Given the description of an element on the screen output the (x, y) to click on. 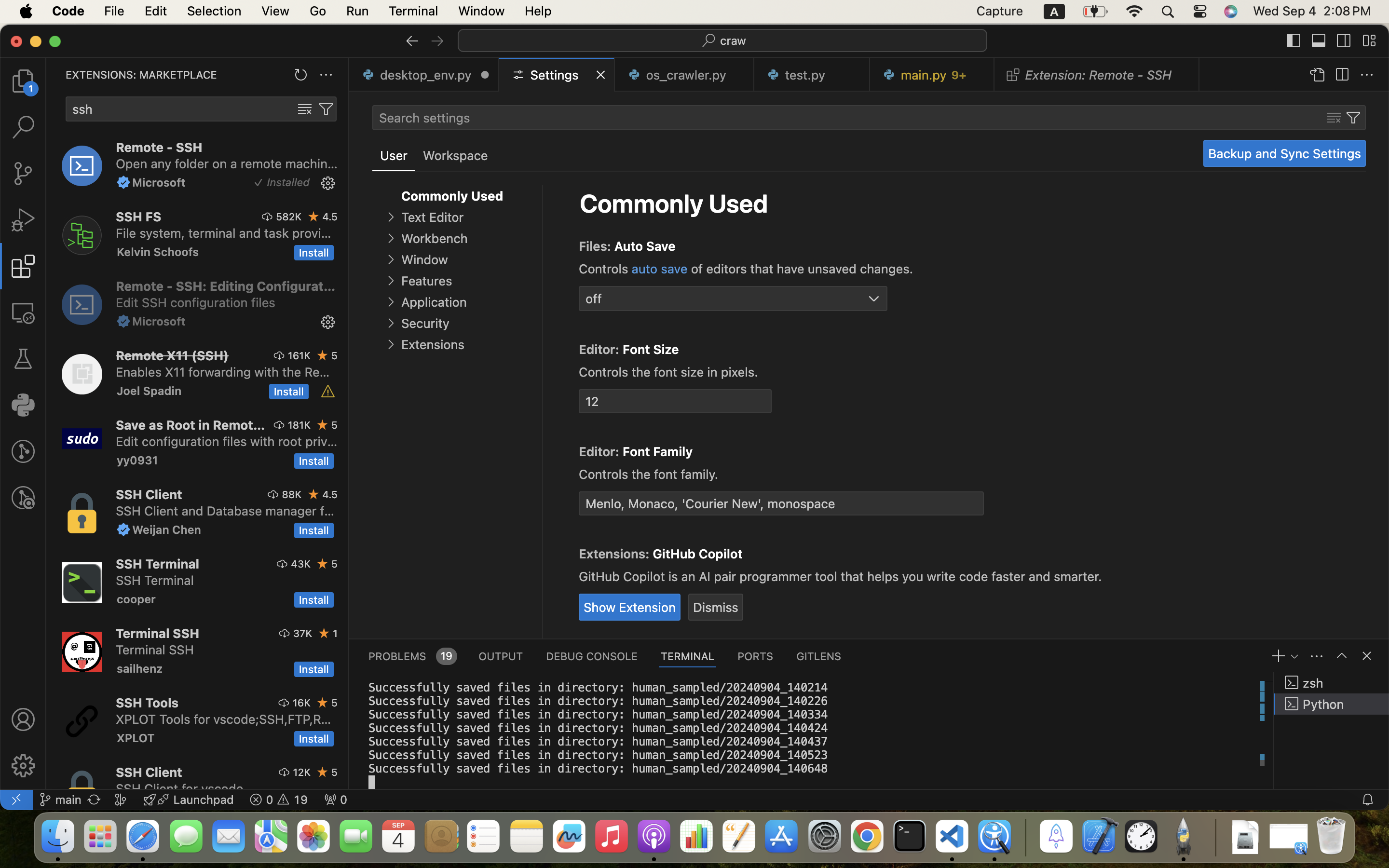
Controls Element type: AXStaticText (604, 268)
craw Element type: AXStaticText (733, 40)
Joel Spadin Element type: AXStaticText (149, 390)
0 PORTS Element type: AXRadioButton (755, 655)
19  0  Element type: AXButton (278, 799)
